Given the description of an element on the screen output the (x, y) to click on. 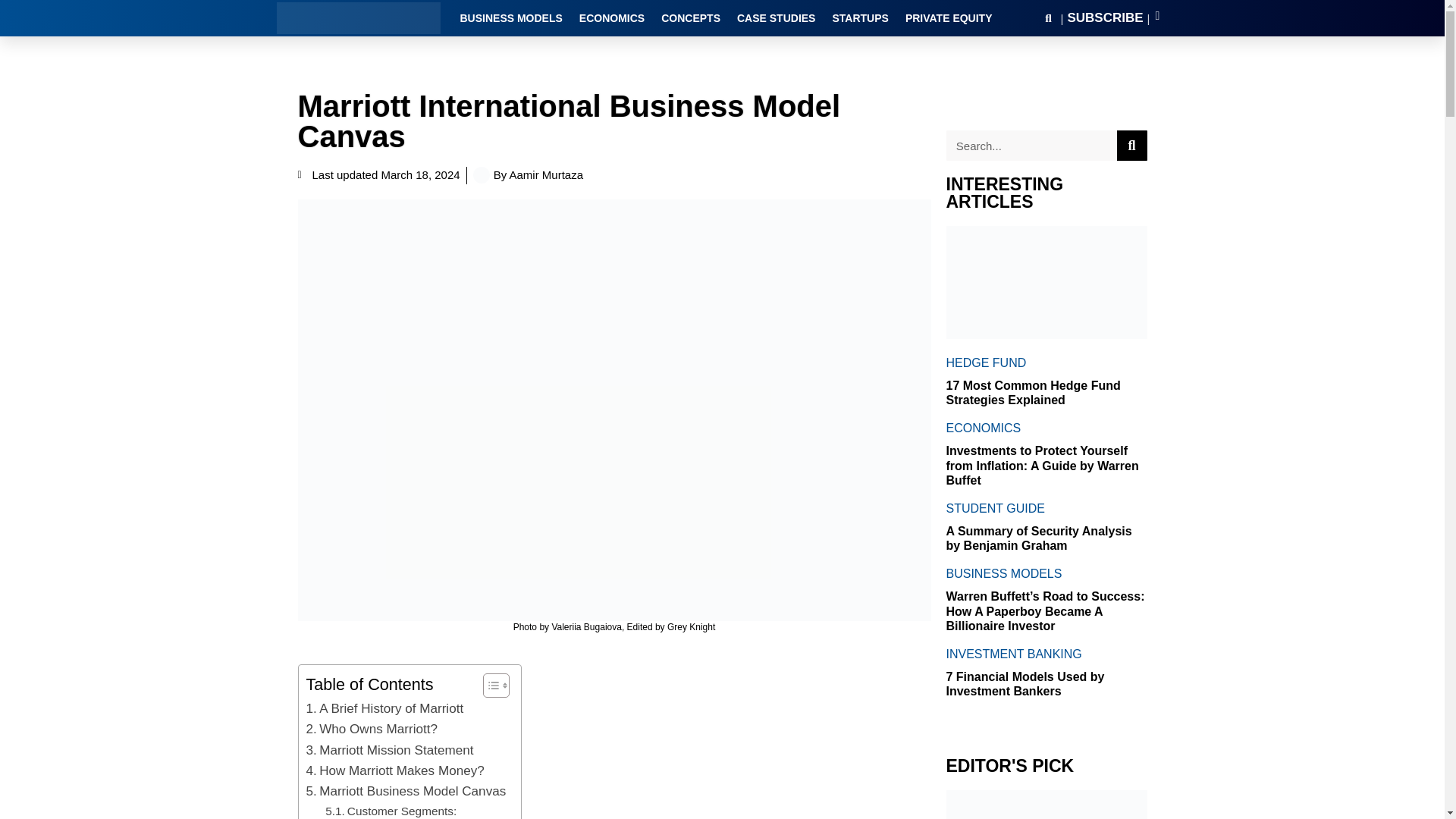
How Marriott Makes Money? (394, 770)
PRIVATE EQUITY (948, 18)
A Brief History of Marriott (384, 708)
Marriott Mission Statement (389, 750)
Customer Segments: (390, 810)
BUSINESS MODELS (511, 18)
A Brief History of Marriott  (384, 708)
How Marriott Makes Money? (394, 770)
Customer Segments: (390, 810)
Who Owns Marriott? (371, 729)
SUBSCRIBE (1104, 17)
CASE STUDIES (775, 18)
By Aamir Murtaza (528, 175)
ECONOMICS (612, 18)
Who Owns Marriott? (371, 729)
